Given the description of an element on the screen output the (x, y) to click on. 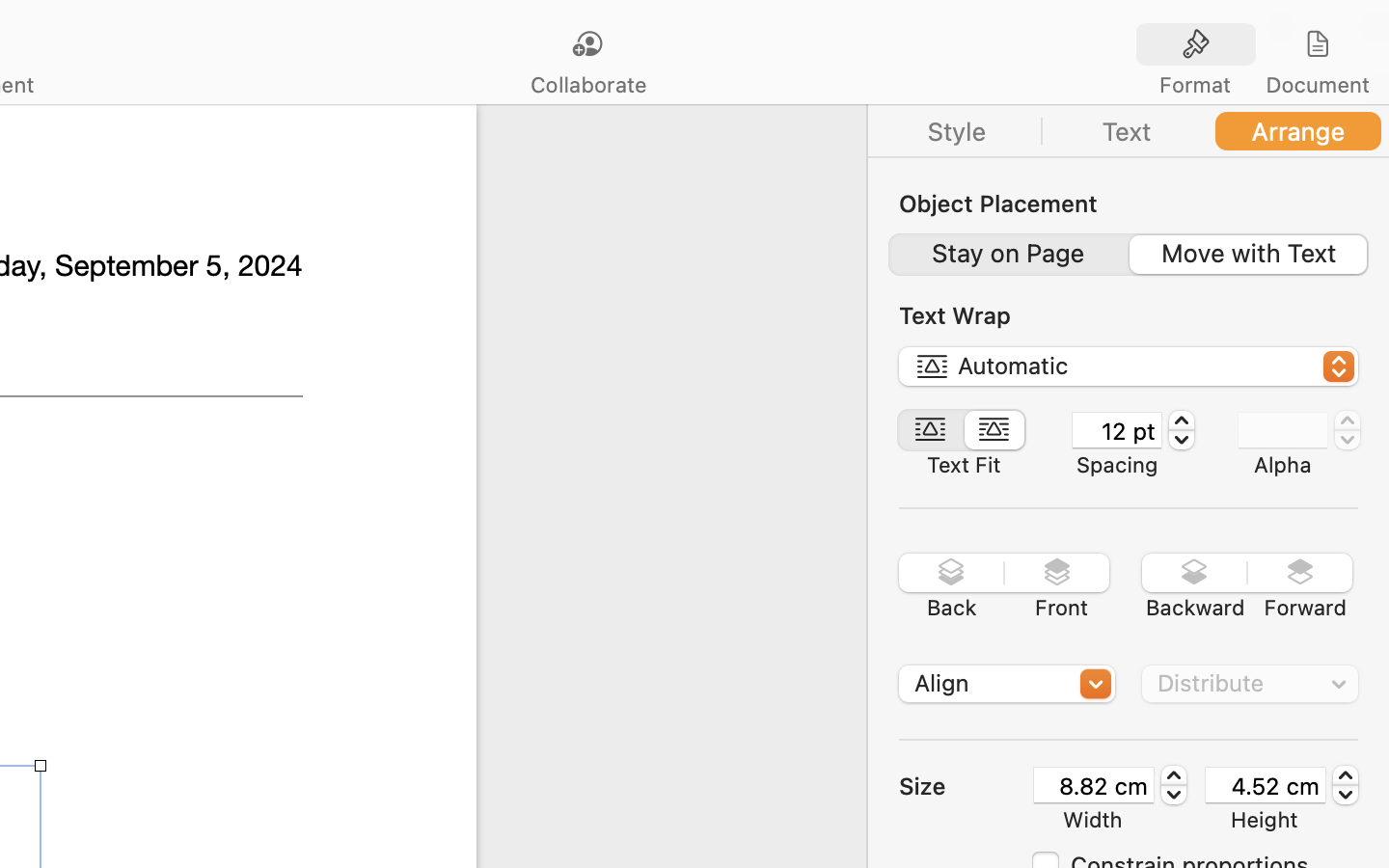
Automatic Element type: AXPopUpButton (1129, 369)
<AXUIElement 0x2a544fe40> {pid=1482} Element type: AXRadioGroup (963, 429)
12.0 Element type: AXIncrementor (1181, 430)
0.0 Element type: AXIncrementor (1347, 430)
<AXUIElement 0x2a7a238e0> {pid=1482} Element type: AXRadioGroup (1127, 254)
